Given the description of an element on the screen output the (x, y) to click on. 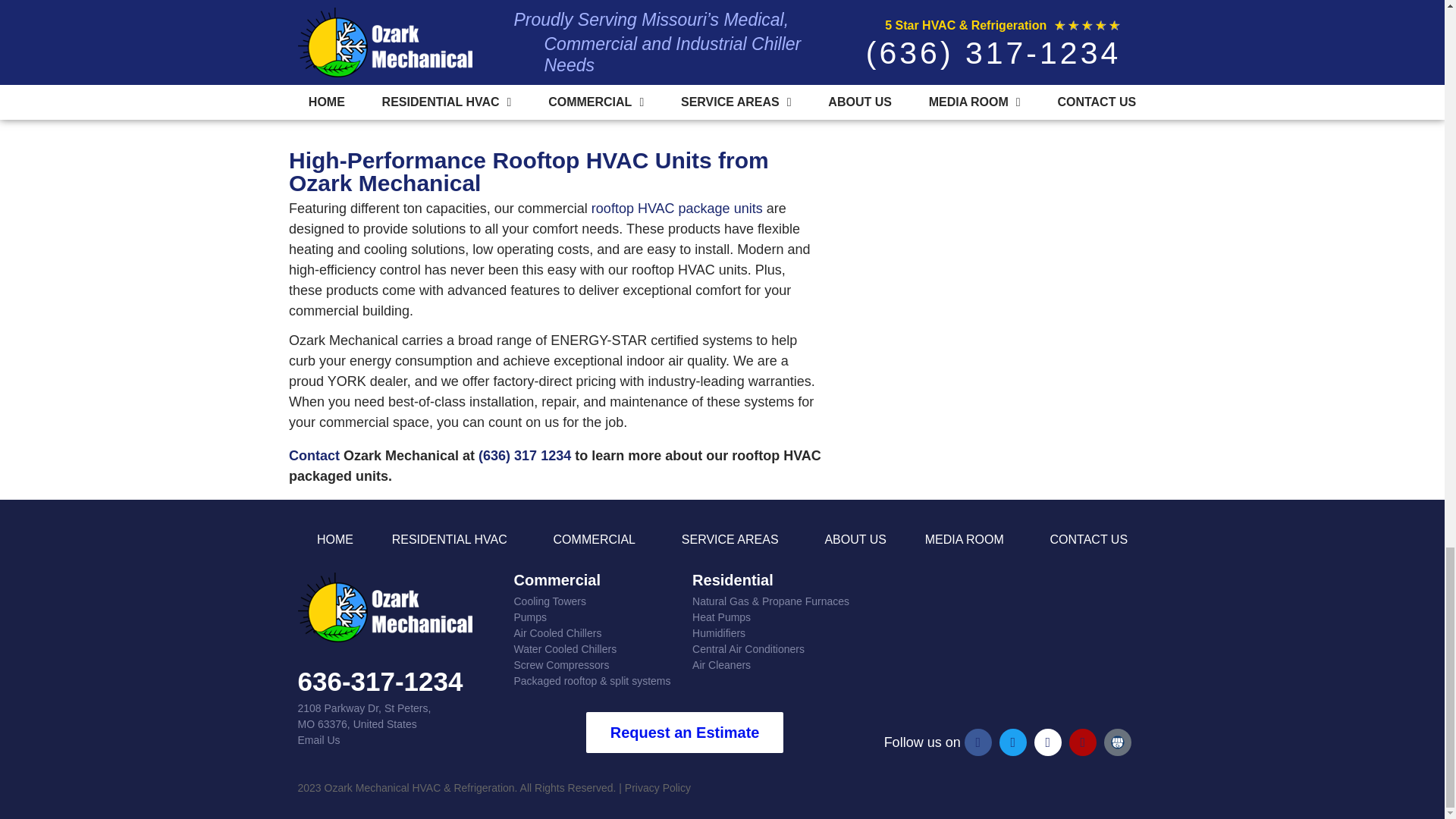
Ozark Mechanical (1007, 642)
